Given the description of an element on the screen output the (x, y) to click on. 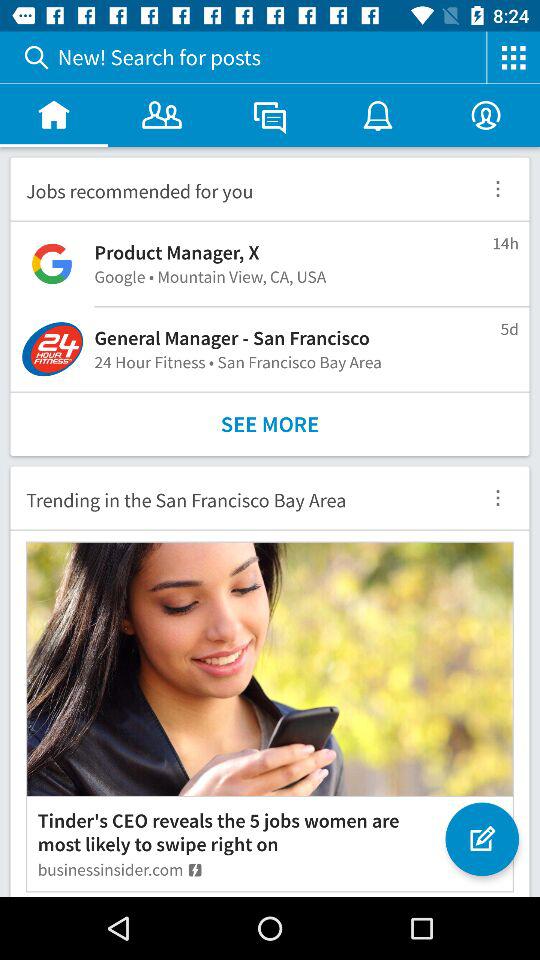
flip until the businessinsider.com x icon (120, 869)
